Given the description of an element on the screen output the (x, y) to click on. 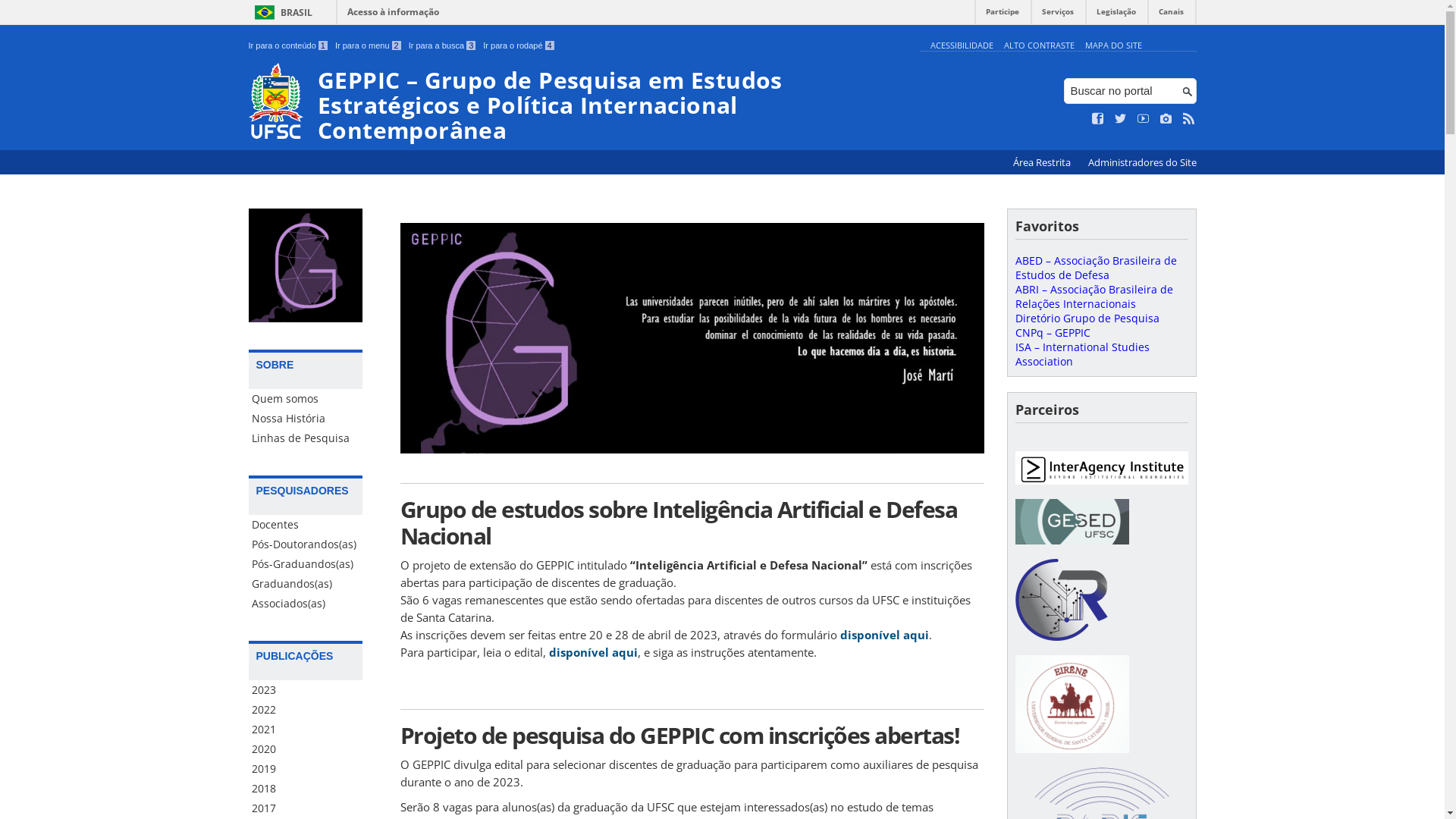
Quem somos Element type: text (305, 398)
2020 Element type: text (305, 749)
Canais Element type: text (1171, 15)
2021 Element type: text (305, 729)
Administradores do Site Element type: text (1141, 162)
2017 Element type: text (305, 808)
Curta no Facebook Element type: hover (1098, 118)
ACESSIBILIDADE Element type: text (960, 44)
BRASIL Element type: text (280, 12)
2018 Element type: text (305, 788)
Participe Element type: text (1002, 15)
Docentes Element type: text (305, 524)
Linhas de Pesquisa Element type: text (305, 438)
2019 Element type: text (305, 768)
Veja no Instagram Element type: hover (1166, 118)
Graduandos(as) Element type: text (305, 583)
Ir para a busca 3 Element type: text (442, 45)
2023 Element type: text (305, 689)
2022 Element type: text (305, 709)
Associados(as) Element type: text (305, 603)
MAPA DO SITE Element type: text (1112, 44)
ALTO CONTRASTE Element type: text (1039, 44)
Siga no Twitter Element type: hover (1120, 118)
Ir para o menu 2 Element type: text (368, 45)
